Given the description of an element on the screen output the (x, y) to click on. 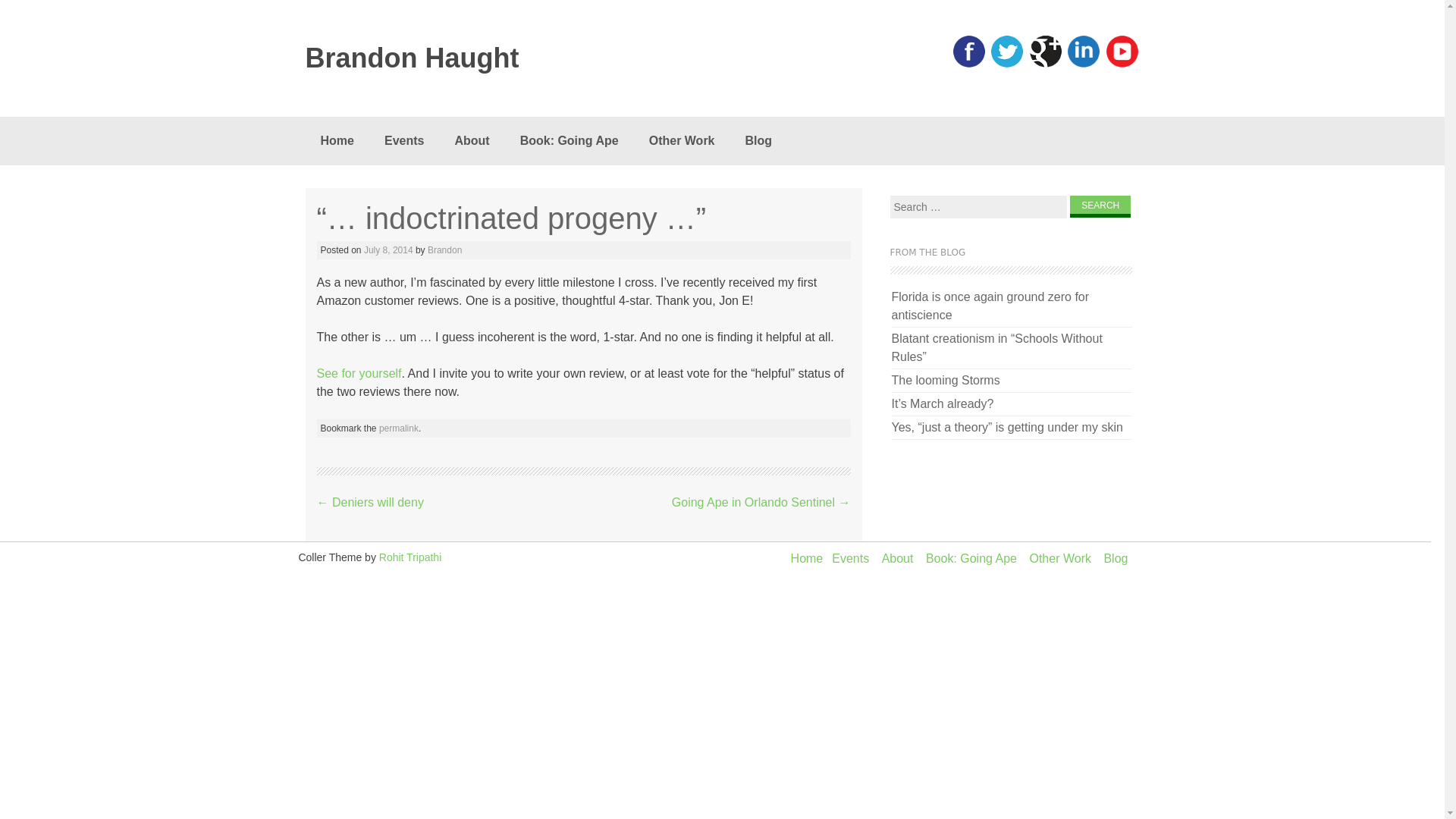
View all posts by Brandon (444, 249)
Home (807, 558)
Linked In (1082, 64)
Brandon Haught (471, 57)
Events (404, 141)
Twitter (1007, 64)
Other Work (681, 141)
Search (1100, 206)
Search (1100, 206)
About (897, 558)
